Given the description of an element on the screen output the (x, y) to click on. 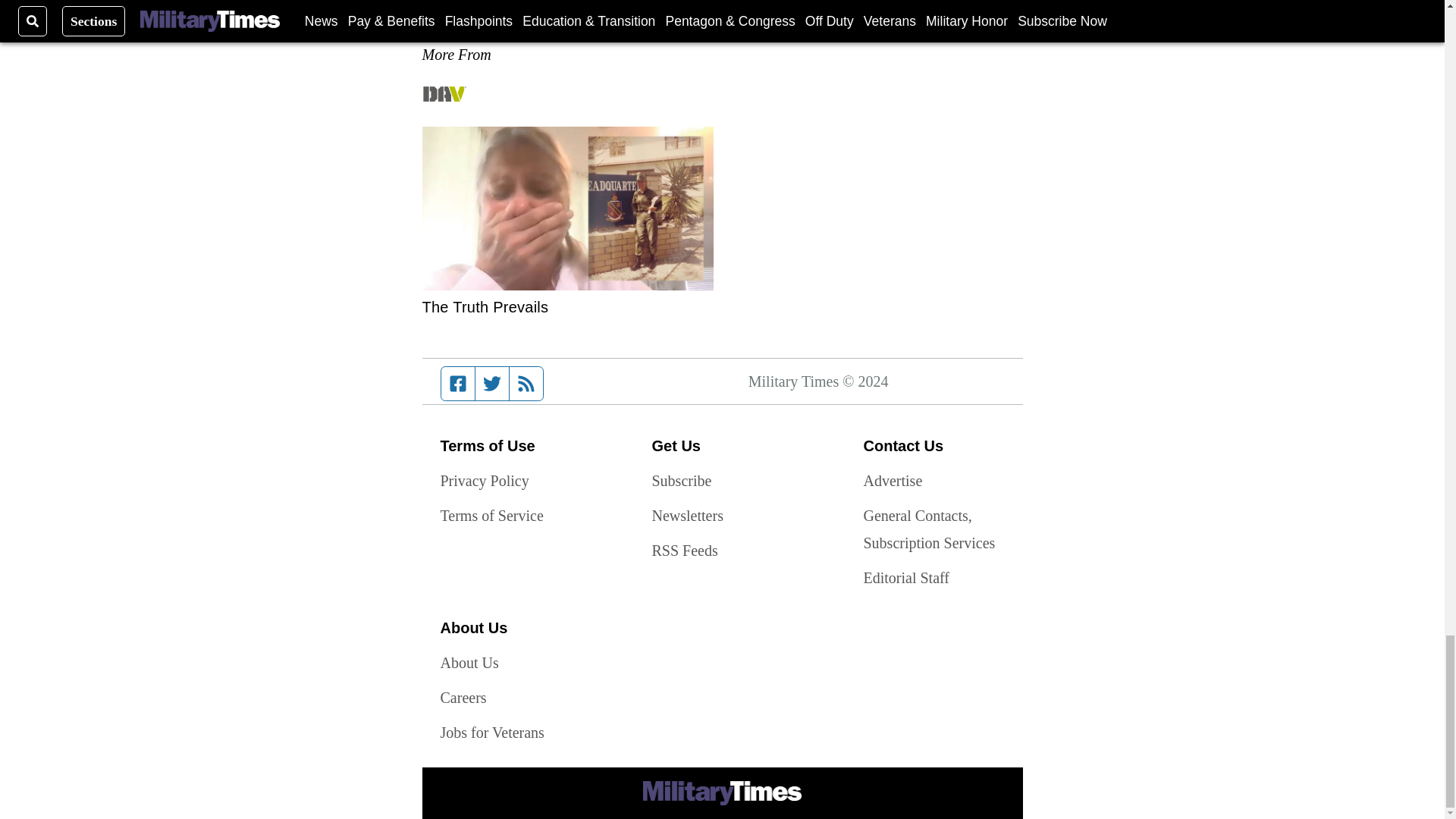
RSS feed (526, 383)
Twitter feed (491, 383)
Facebook page (458, 383)
